Given the description of an element on the screen output the (x, y) to click on. 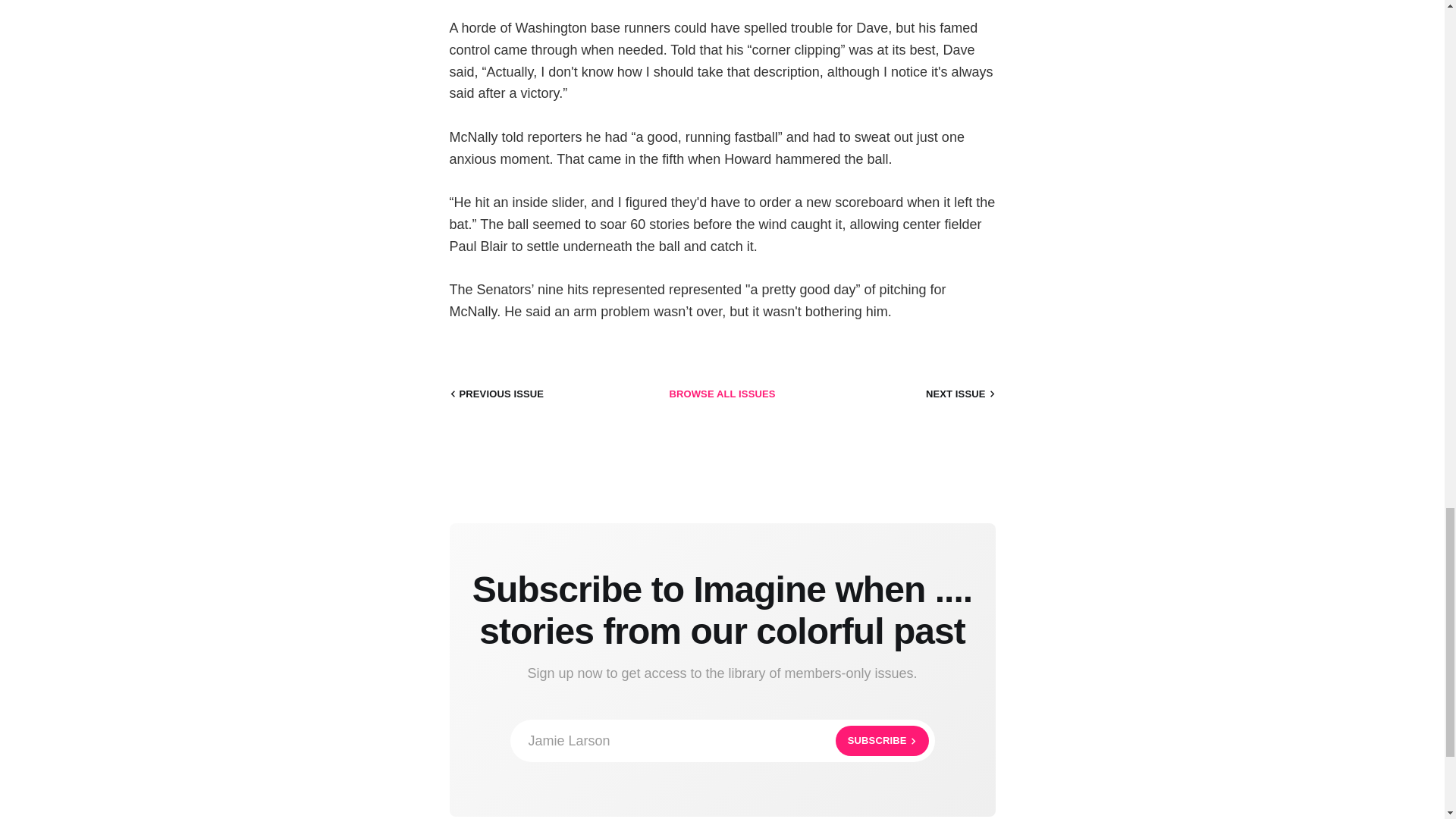
BROWSE ALL ISSUES (721, 740)
